Given the description of an element on the screen output the (x, y) to click on. 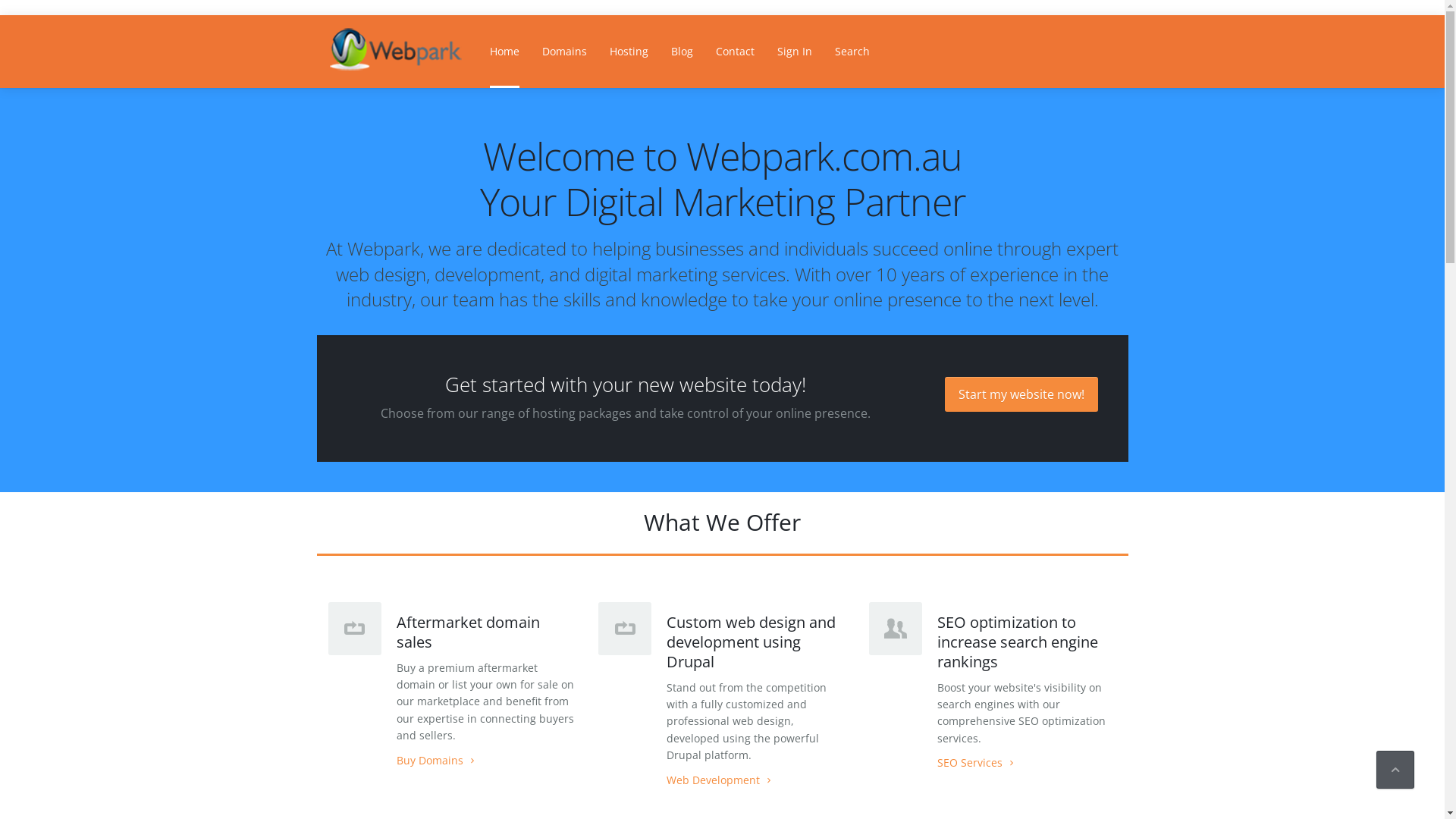
Custom web design and development using Drupal Element type: text (750, 641)
Web Development Element type: text (720, 779)
Buy Domains Element type: text (435, 760)
Search Element type: text (852, 51)
Sign In Element type: text (794, 51)
Domains Element type: text (564, 51)
Aftermarket domain sales Element type: text (467, 631)
Hosting Element type: text (627, 51)
SEO Services Element type: text (976, 762)
Contact Element type: text (734, 51)
Home Element type: text (503, 51)
Start my website now! Element type: text (1021, 393)
SEO optimization to increase search engine rankings Element type: text (1017, 641)
Blog Element type: text (681, 51)
